Given the description of an element on the screen output the (x, y) to click on. 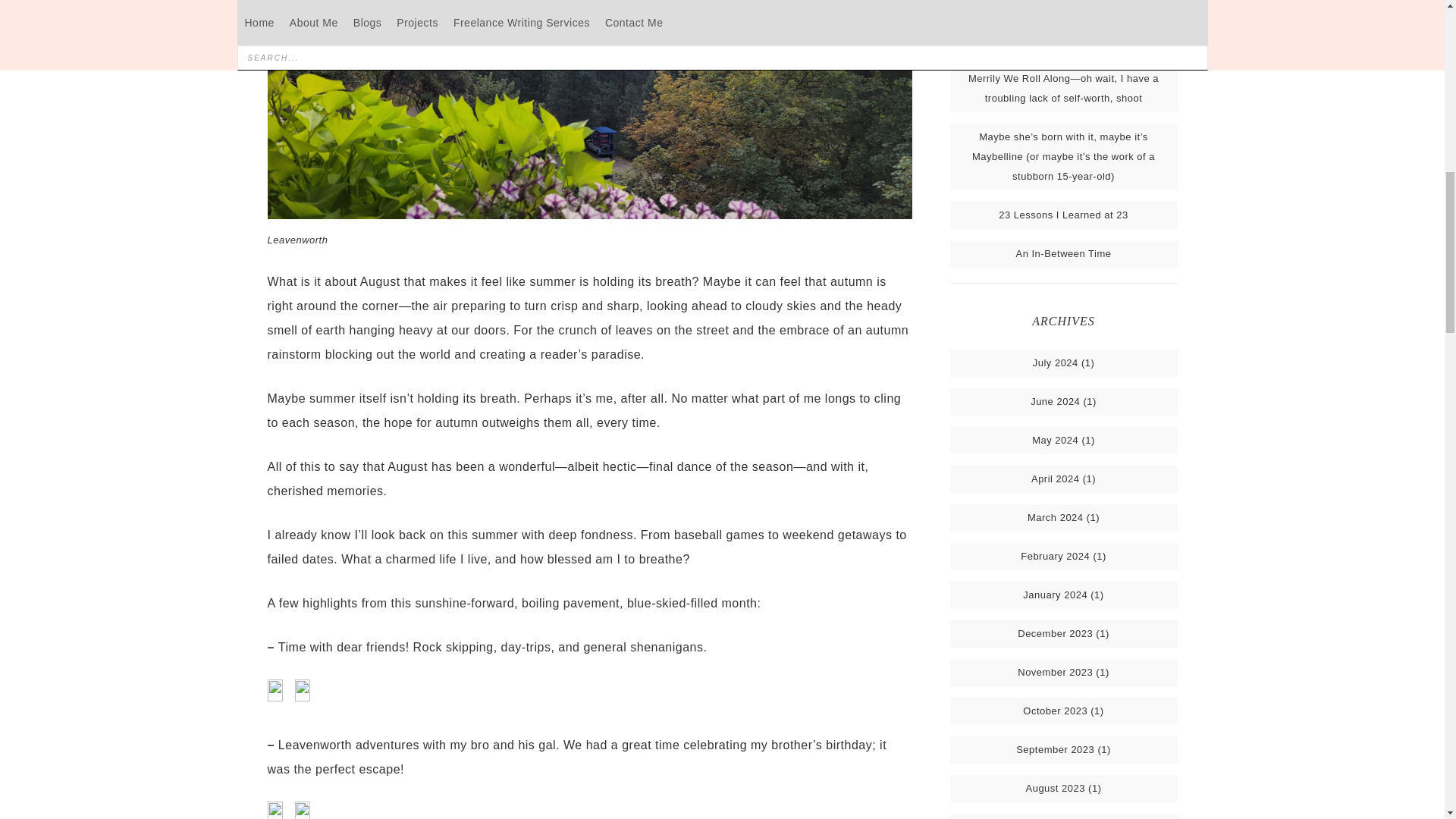
An In-Between Time (1062, 253)
The Birds and the Bees (1063, 39)
23 Lessons I Learned at 23 (1063, 214)
July 2024 (1055, 362)
